Given the description of an element on the screen output the (x, y) to click on. 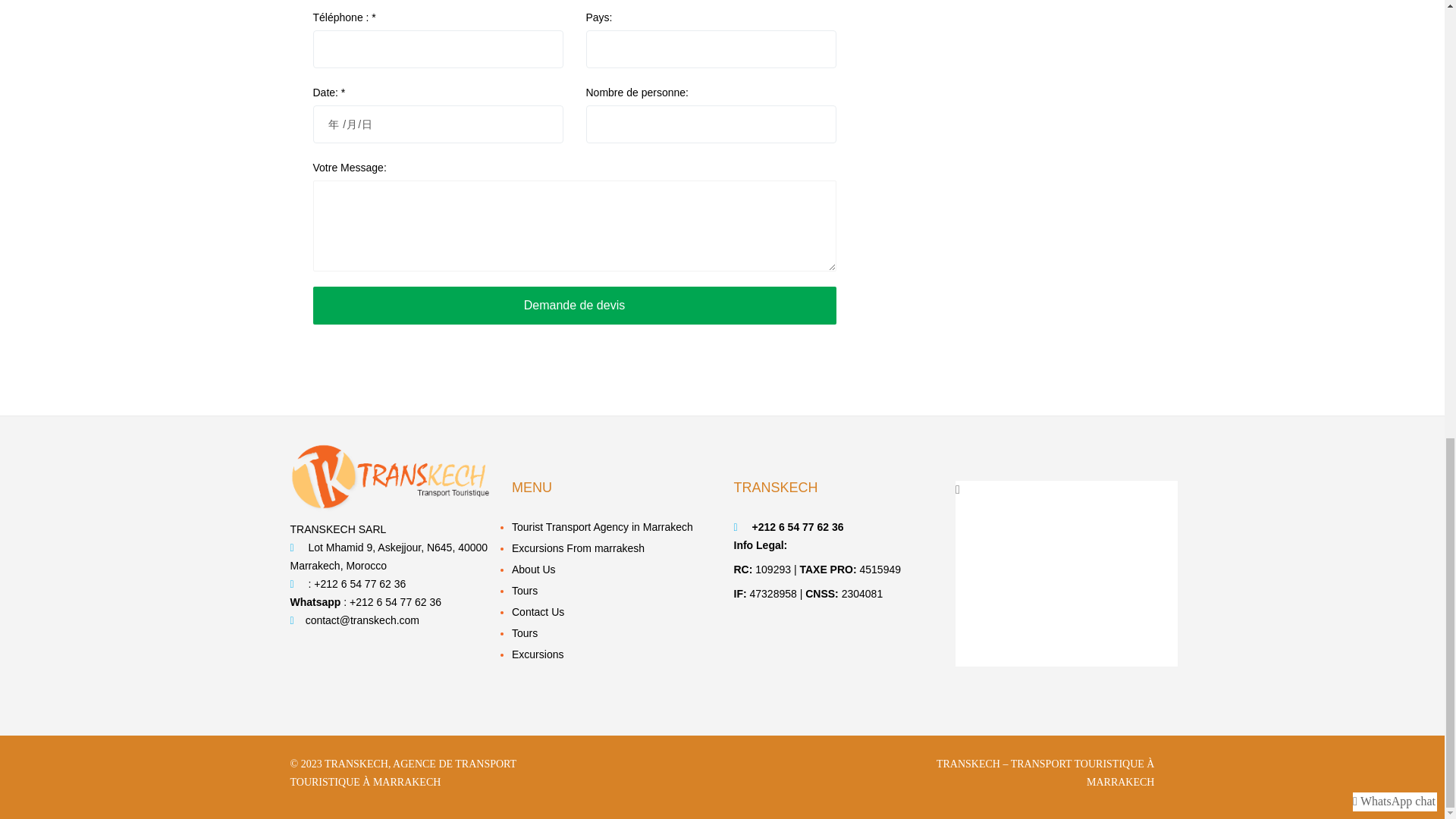
Demande de devis (574, 304)
